Given the description of an element on the screen output the (x, y) to click on. 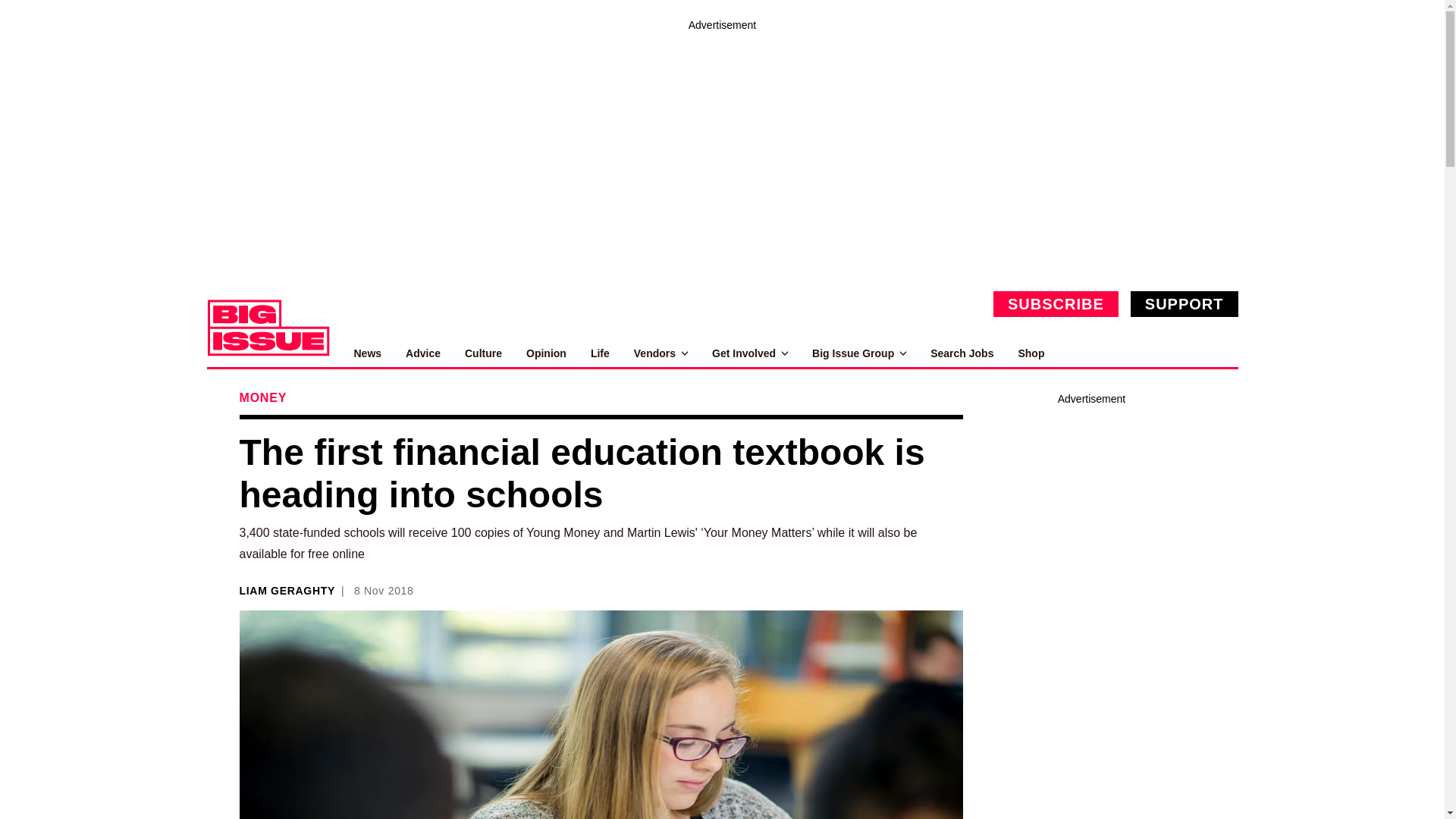
Opinion (545, 353)
Support (1185, 303)
Search (1220, 353)
Subscribe (1055, 303)
Search Jobs (961, 353)
Advice (423, 353)
Get Involved (749, 353)
Culture (483, 353)
Vendors (660, 353)
SUPPORT (1185, 303)
